Given the description of an element on the screen output the (x, y) to click on. 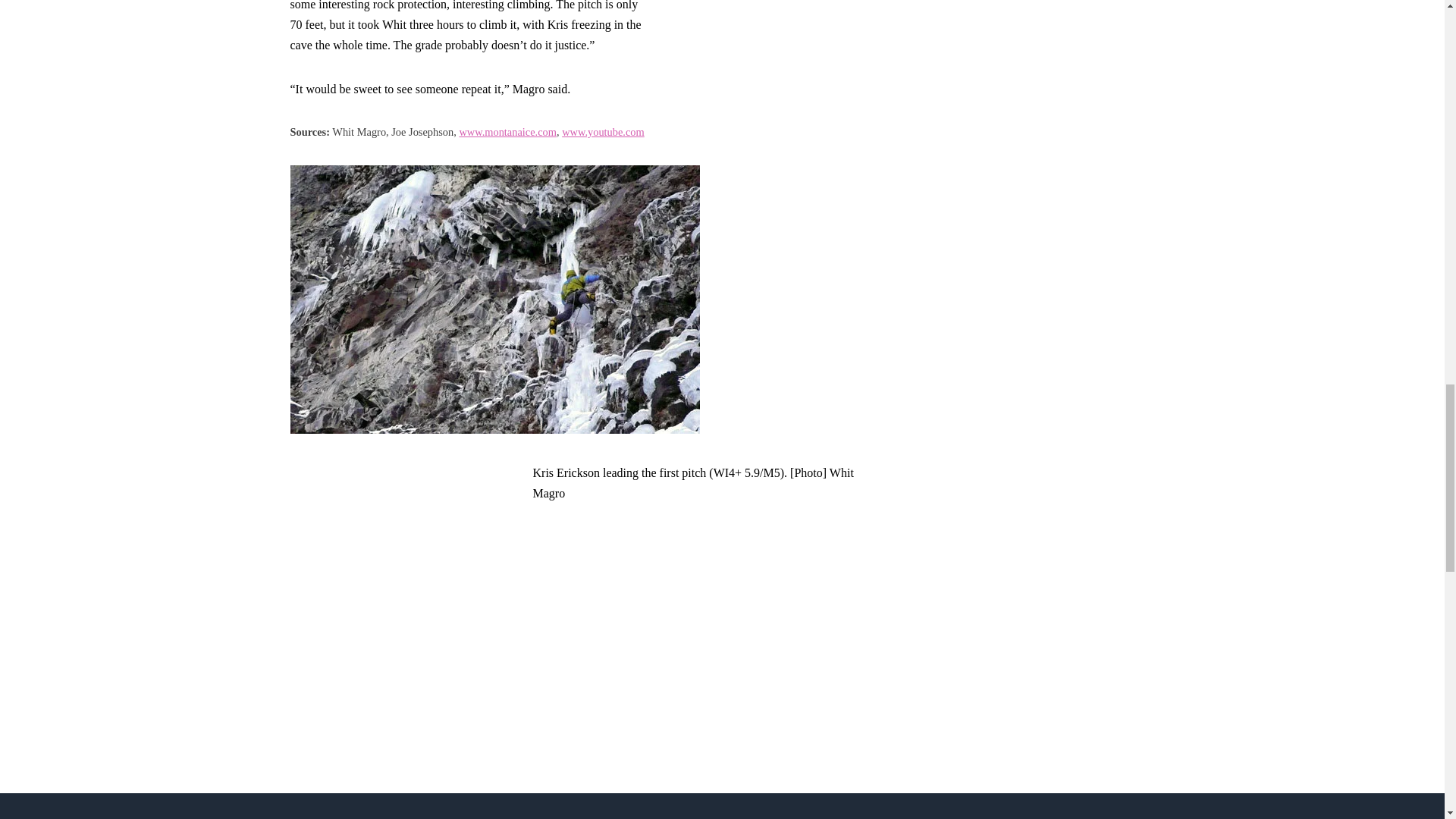
3rd party ad content (1047, 61)
www.youtube.com (603, 132)
winter-dance-2 (493, 299)
3rd party ad content (402, 556)
www.montanaice.com (507, 132)
3rd party ad content (774, 29)
